Given the description of an element on the screen output the (x, y) to click on. 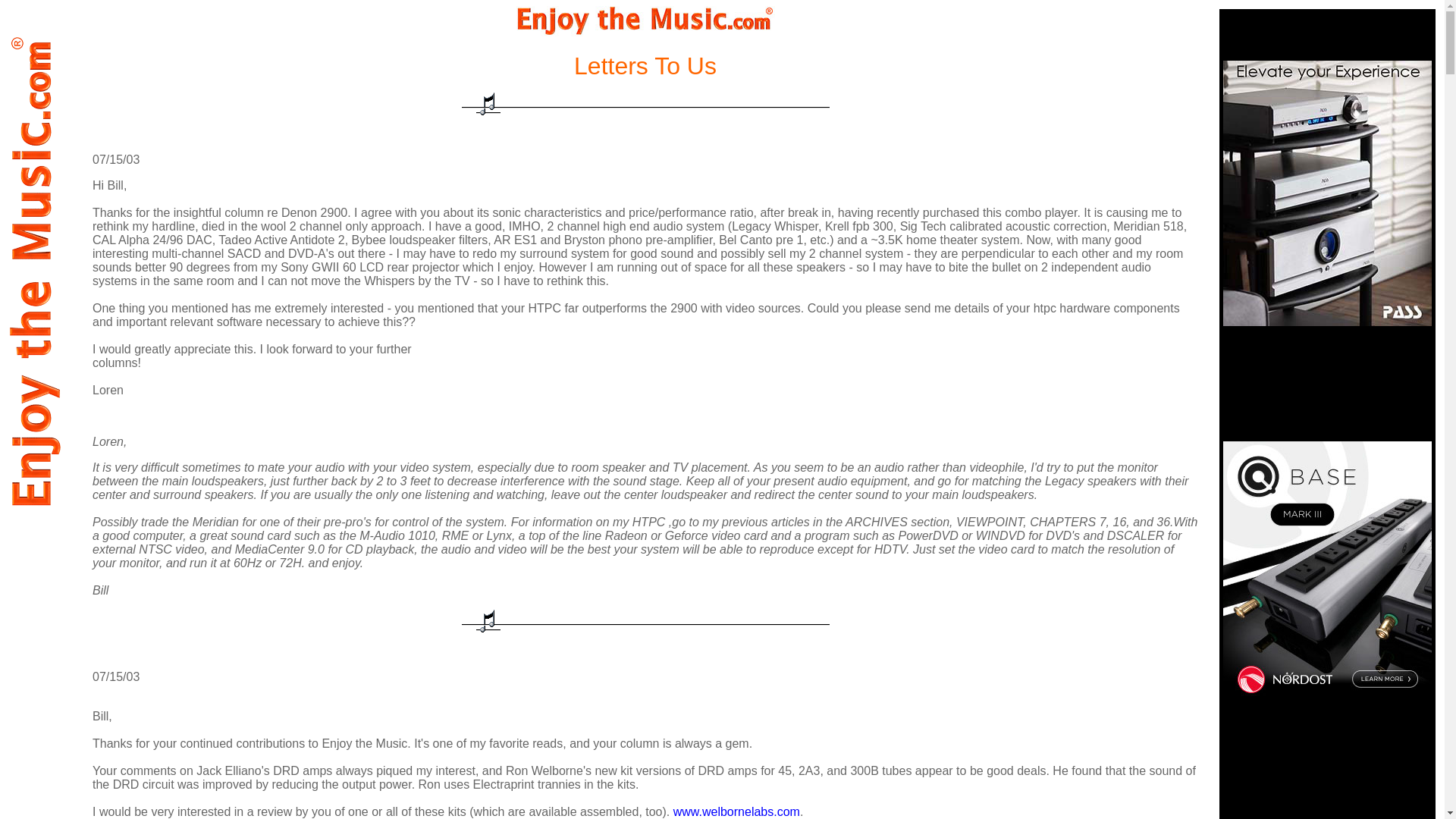
www.welbornelabs.com (735, 811)
